Given the description of an element on the screen output the (x, y) to click on. 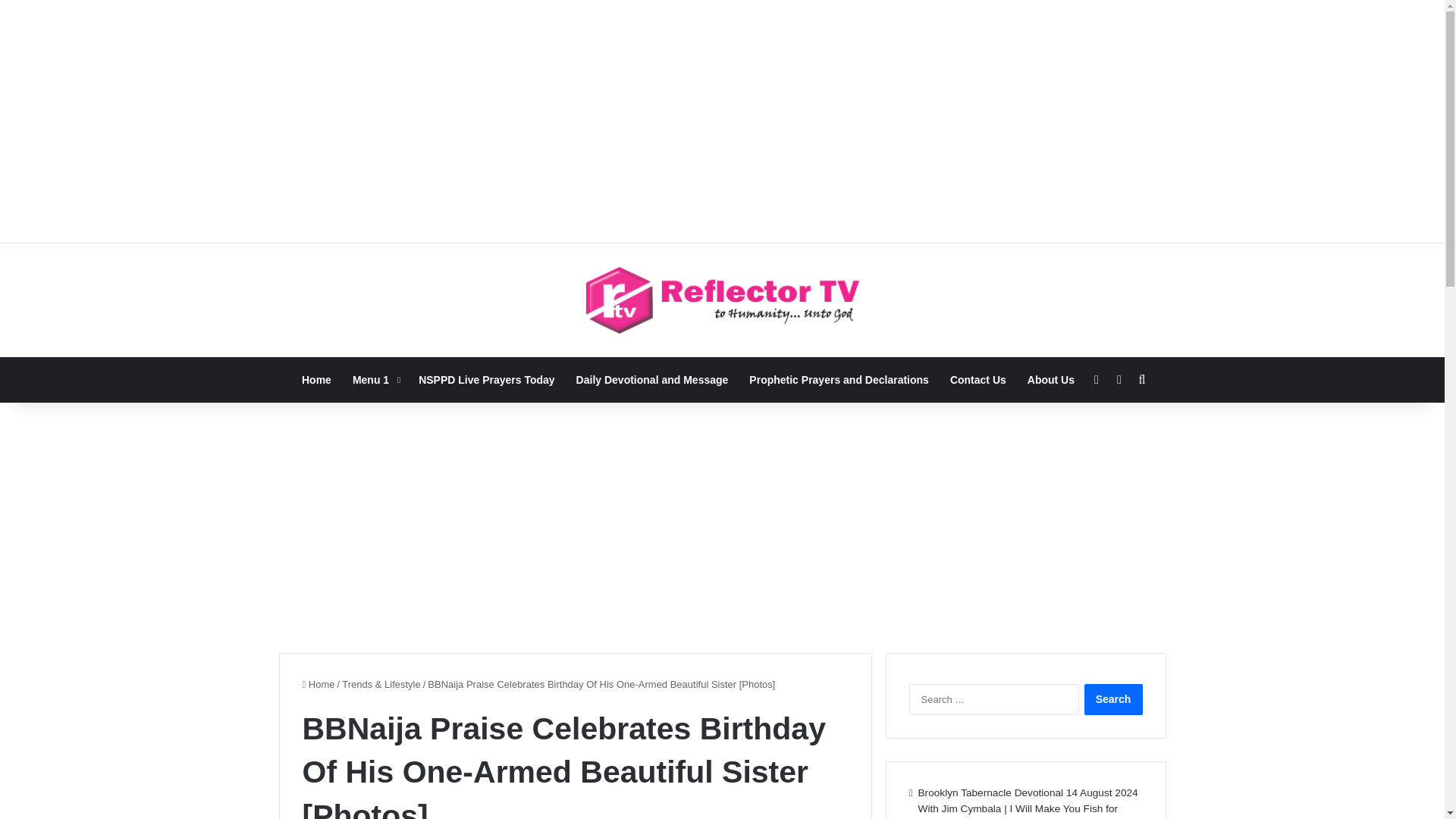
Home (316, 379)
Reflector TV (722, 300)
Home (317, 684)
Search (1113, 698)
Prophetic Prayers and Declarations (838, 379)
NSPPD Live Prayers Today (485, 379)
About Us (1050, 379)
Daily Devotional and Message (652, 379)
Contact Us (977, 379)
